Given the description of an element on the screen output the (x, y) to click on. 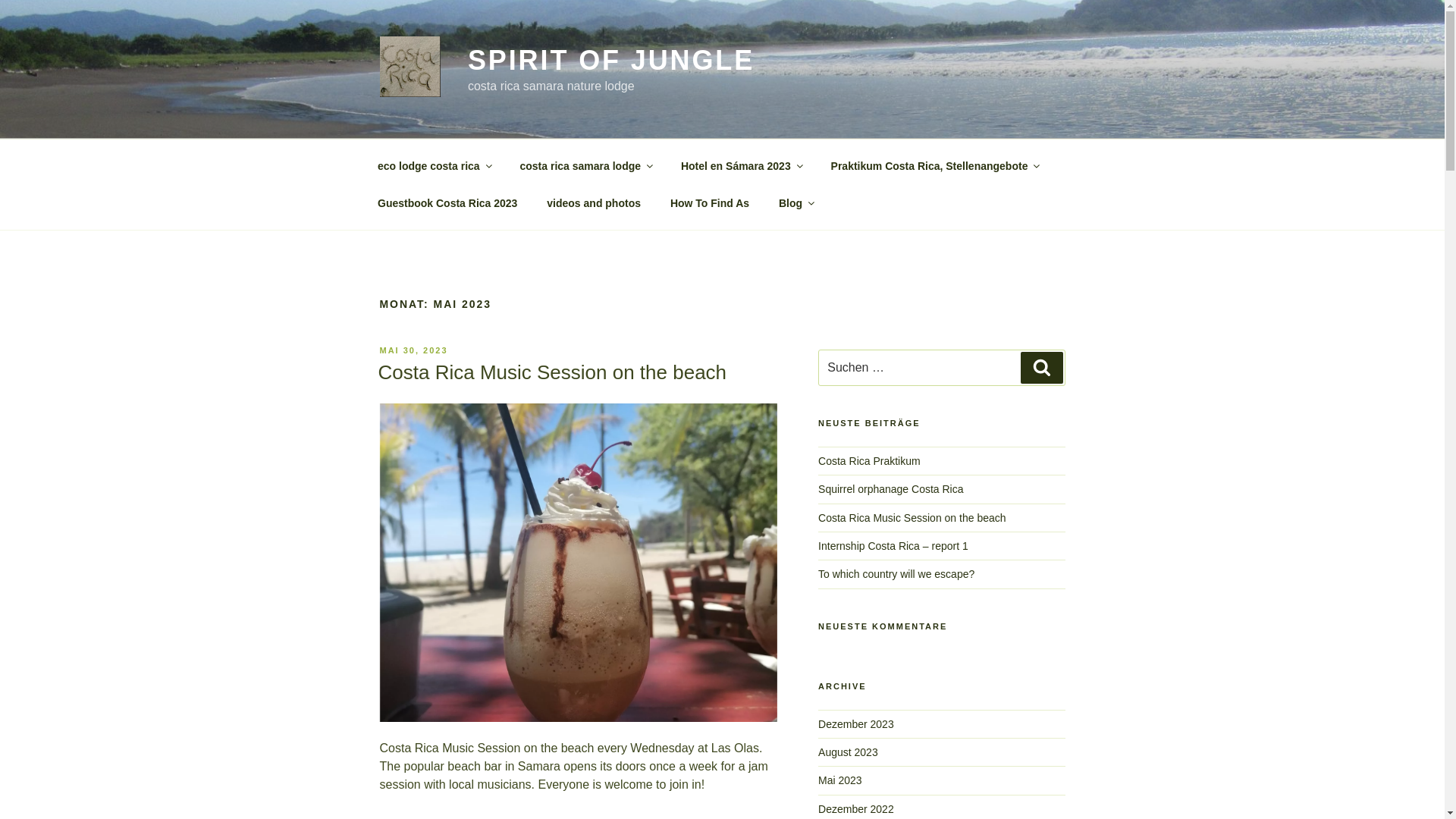
eco lodge costa rica (433, 165)
SPIRIT OF JUNGLE (610, 60)
costa rica samara lodge (585, 165)
